Given the description of an element on the screen output the (x, y) to click on. 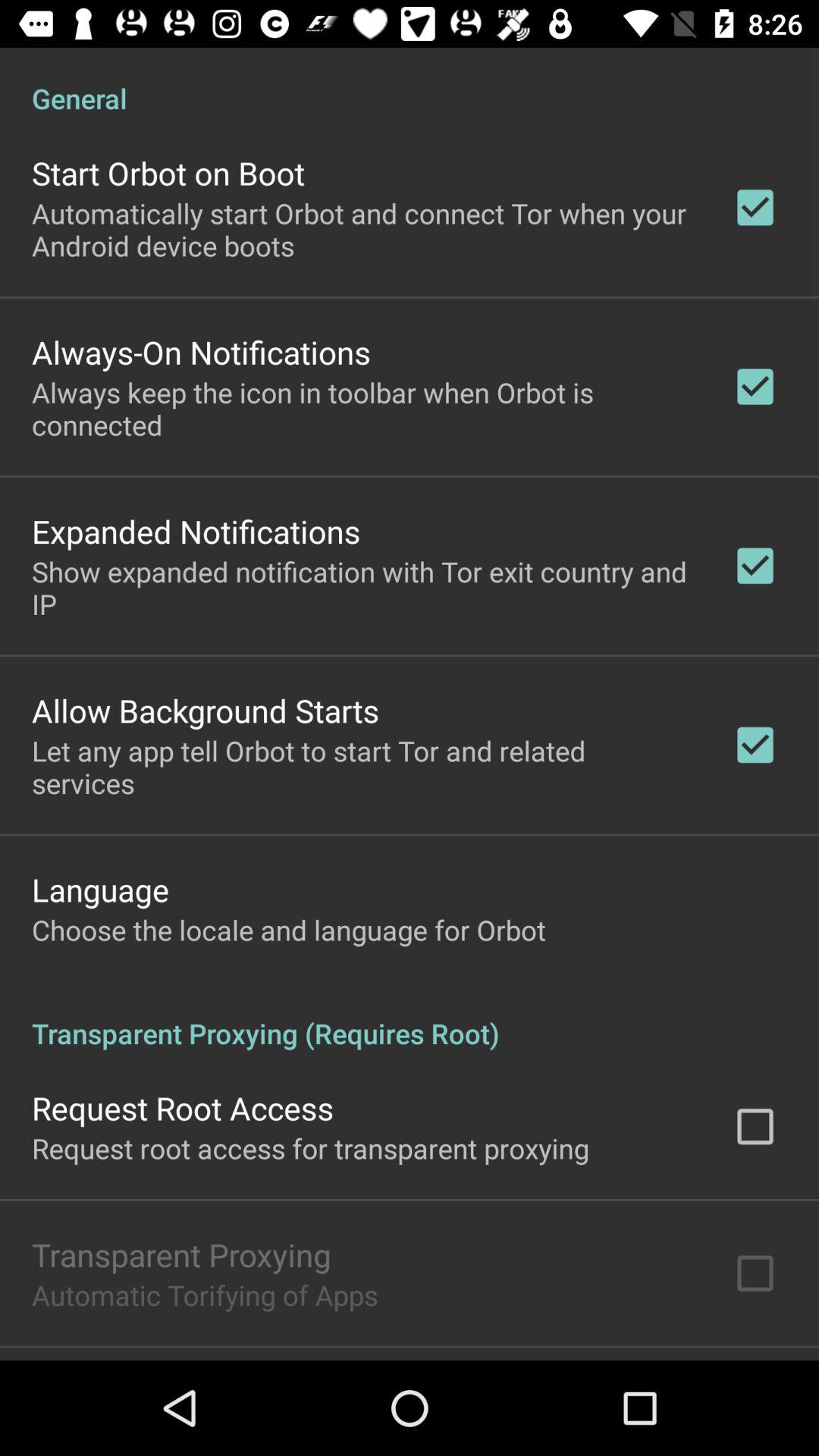
flip to expanded notifications item (195, 530)
